Given the description of an element on the screen output the (x, y) to click on. 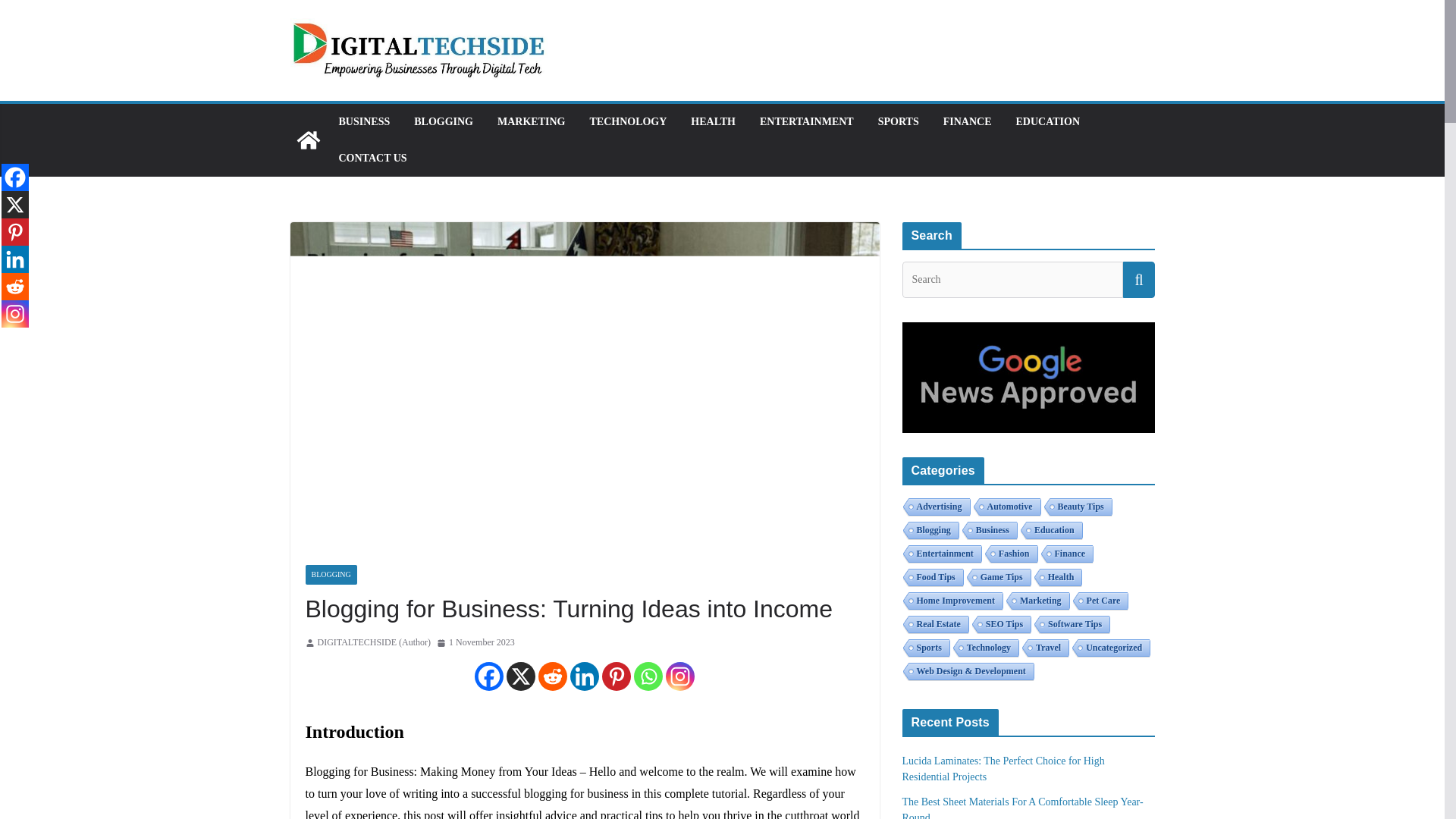
DIGITALTECHSIDE (307, 140)
BLOGGING (443, 121)
CONTACT US (371, 158)
X (520, 676)
TECHNOLOGY (627, 121)
HEALTH (712, 121)
MARKETING (530, 121)
19:07 (475, 642)
SPORTS (897, 121)
1 November 2023 (475, 642)
ENTERTAINMENT (806, 121)
FINANCE (967, 121)
Linkedin (584, 676)
BLOGGING (330, 574)
Facebook (488, 676)
